Given the description of an element on the screen output the (x, y) to click on. 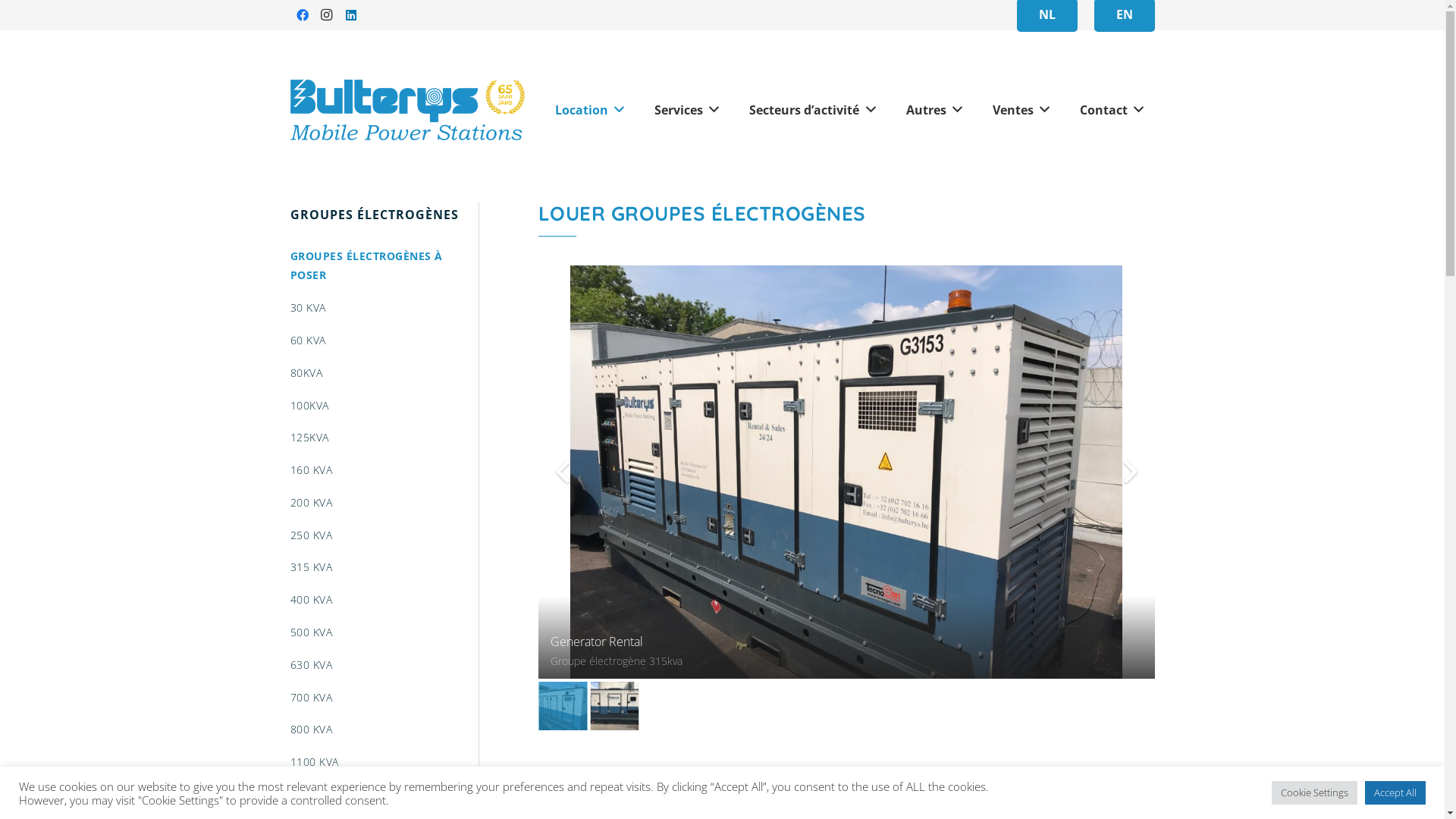
Ventes Element type: text (1020, 109)
Autres Element type: text (934, 109)
30 KVA Element type: text (383, 307)
Services Element type: text (686, 109)
Accept All Element type: text (1395, 792)
1100 KVA Element type: text (383, 761)
630 KVA Element type: text (383, 663)
200 KVA Element type: text (383, 501)
100KVA Element type: text (383, 404)
250 KVA Element type: text (383, 533)
Instagram Element type: hover (325, 15)
60 KVA Element type: text (383, 339)
400 KVA Element type: text (383, 599)
315 KVA Element type: text (383, 566)
80KVA Element type: text (383, 371)
Location Element type: text (589, 109)
Cookie Settings Element type: text (1314, 792)
LinkedIn Element type: hover (350, 15)
125KVA Element type: text (383, 436)
700 KVA Element type: text (383, 696)
Contact Element type: text (1111, 109)
500 KVA Element type: text (383, 631)
1250 KVA Element type: text (383, 794)
160 KVA Element type: text (383, 469)
800 KVA Element type: text (383, 728)
Facebook Element type: hover (301, 15)
